Given the description of an element on the screen output the (x, y) to click on. 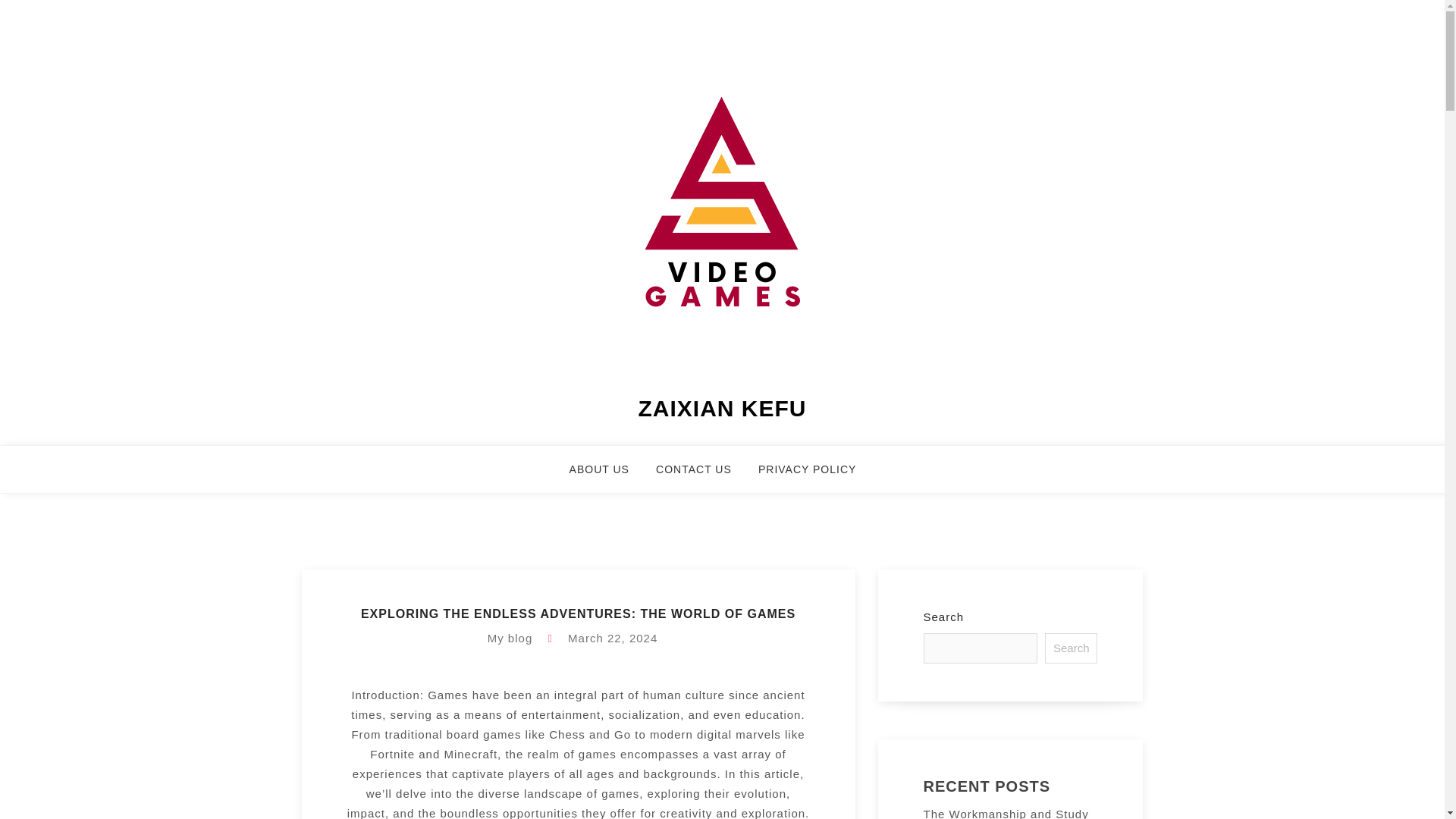
Search (1071, 648)
My blog (509, 637)
ZAIXIAN KEFU (722, 407)
CONTACT US (703, 476)
March 22, 2024 (612, 637)
ABOUT US (608, 476)
PRIVACY POLICY (816, 476)
